Given the description of an element on the screen output the (x, y) to click on. 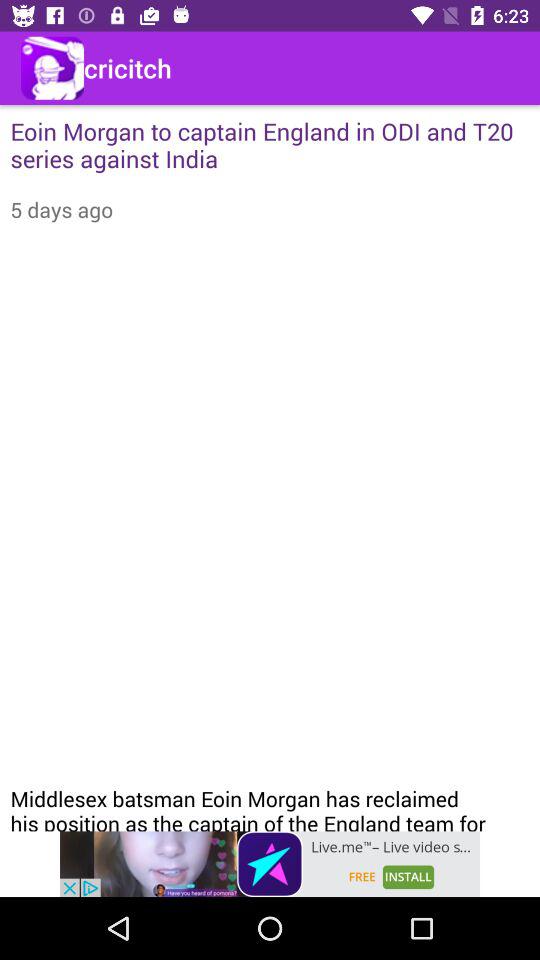
advisement area (270, 864)
